Given the description of an element on the screen output the (x, y) to click on. 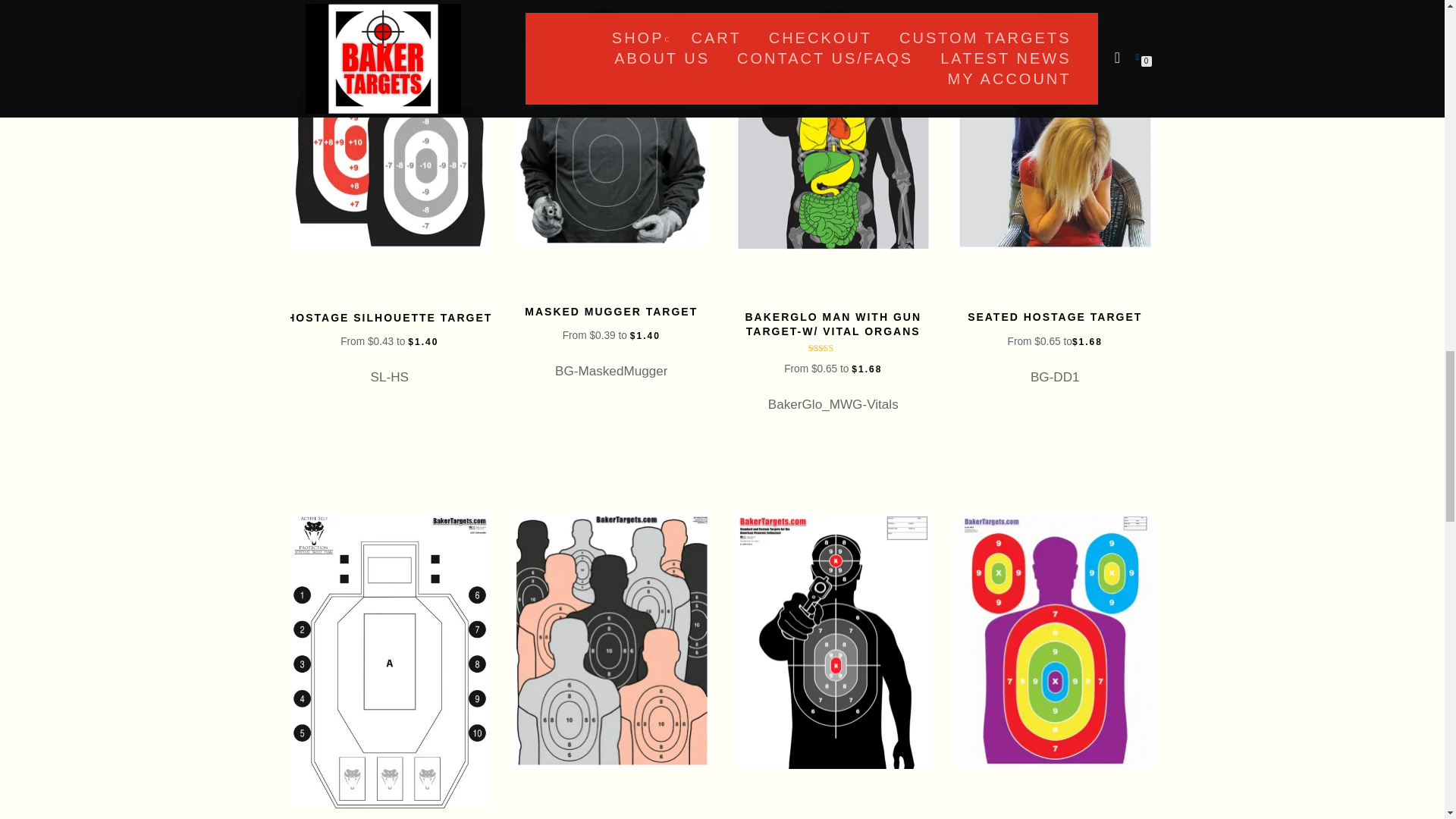
BG-MaskedMugger (611, 122)
